Given the description of an element on the screen output the (x, y) to click on. 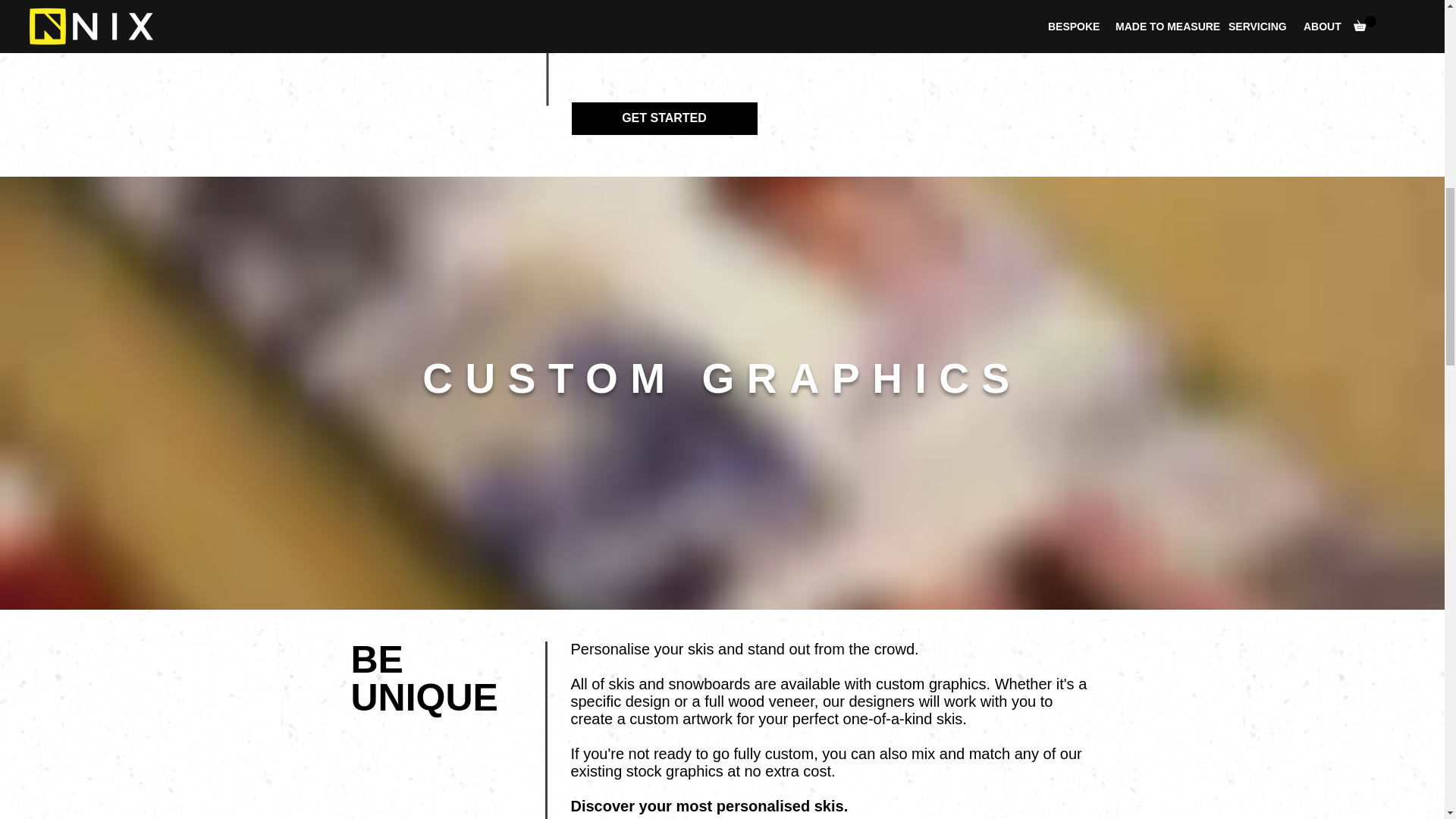
GET STARTED (663, 118)
CUSTOM GRAPHICS (722, 378)
